Given the description of an element on the screen output the (x, y) to click on. 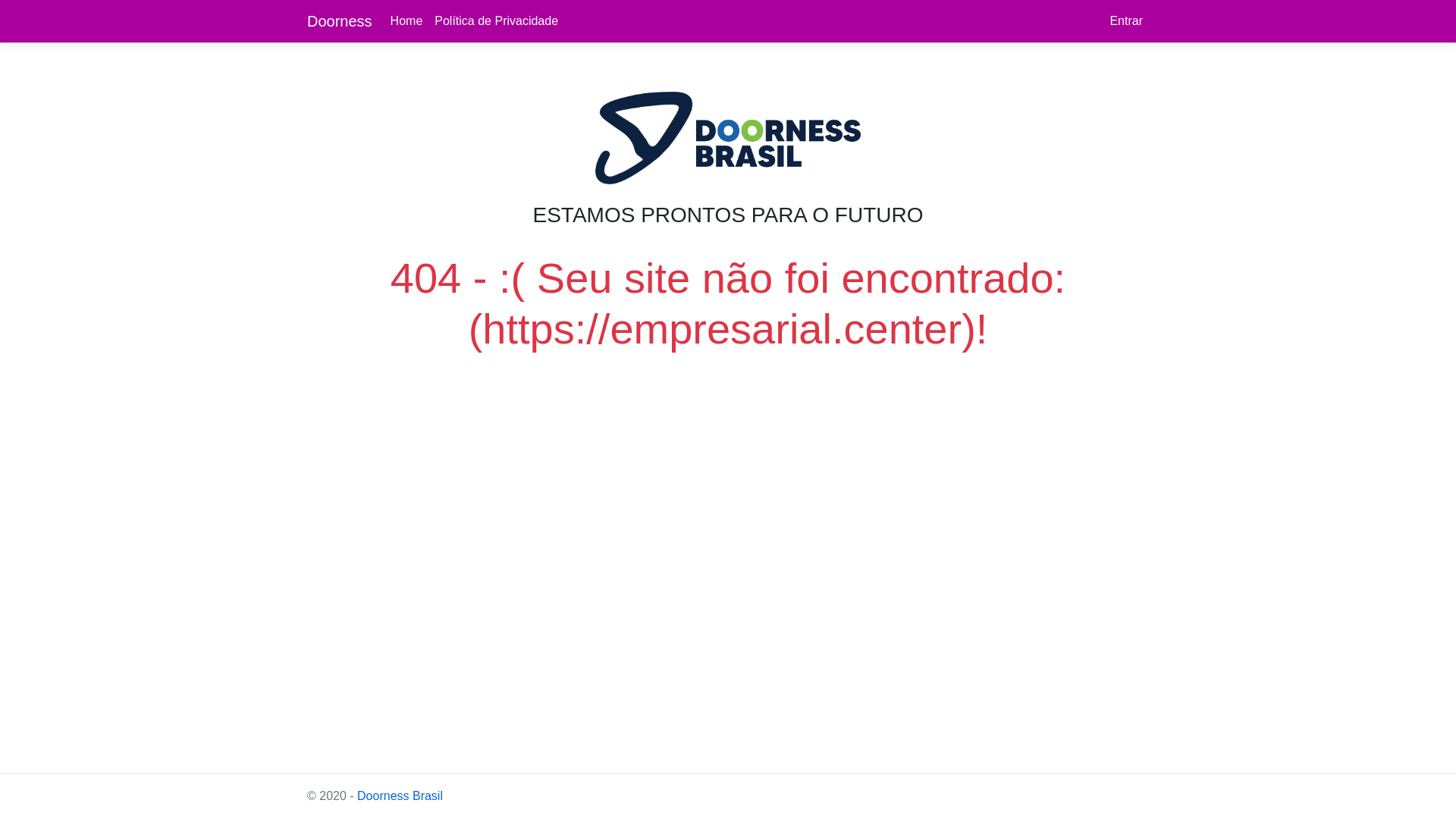
Home Element type: text (406, 21)
Doorness Brasil Element type: text (399, 795)
Doorness Element type: text (339, 21)
Entrar Element type: text (1125, 21)
